Given the description of an element on the screen output the (x, y) to click on. 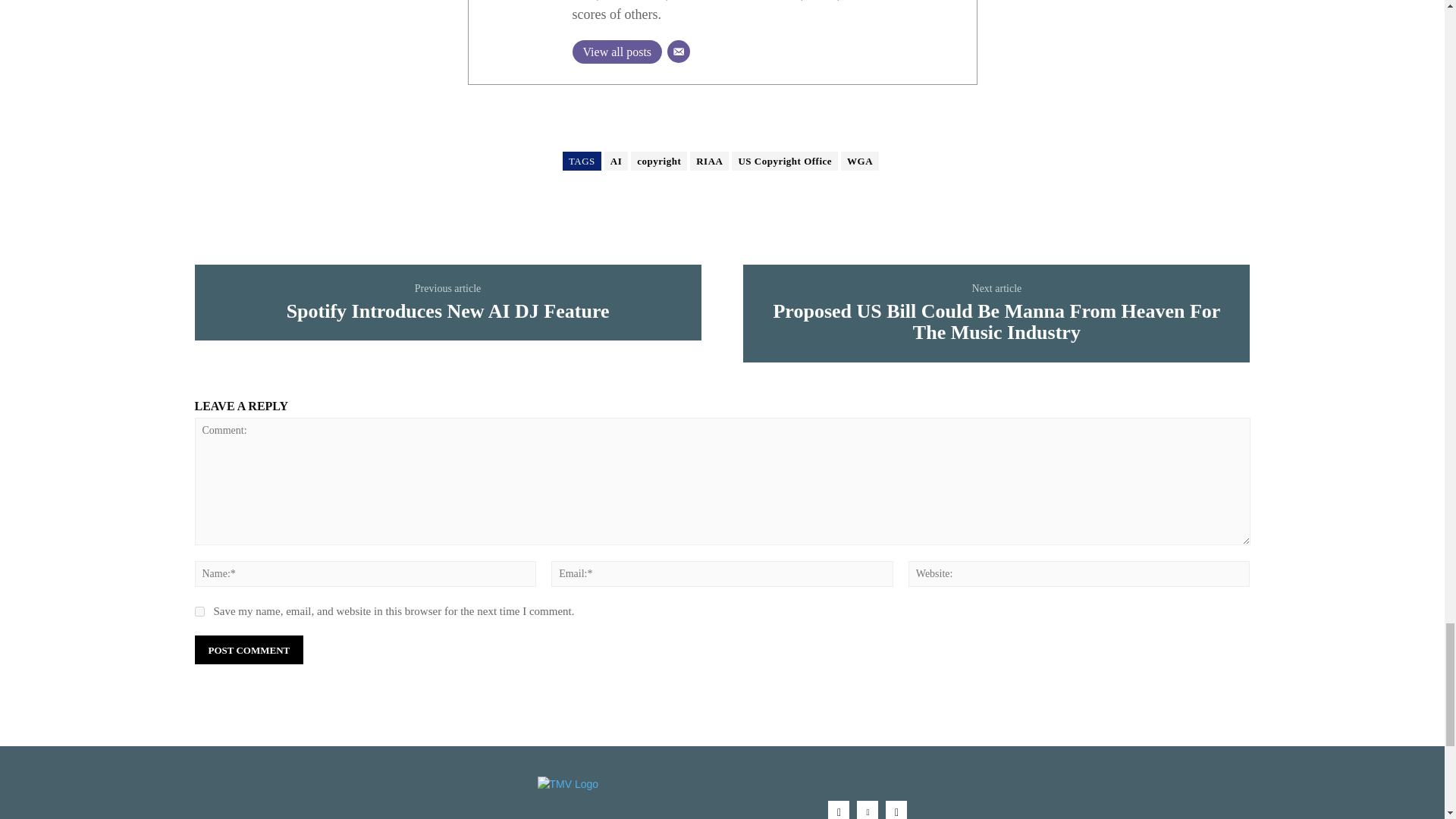
yes (198, 611)
Post Comment (247, 650)
